Given the description of an element on the screen output the (x, y) to click on. 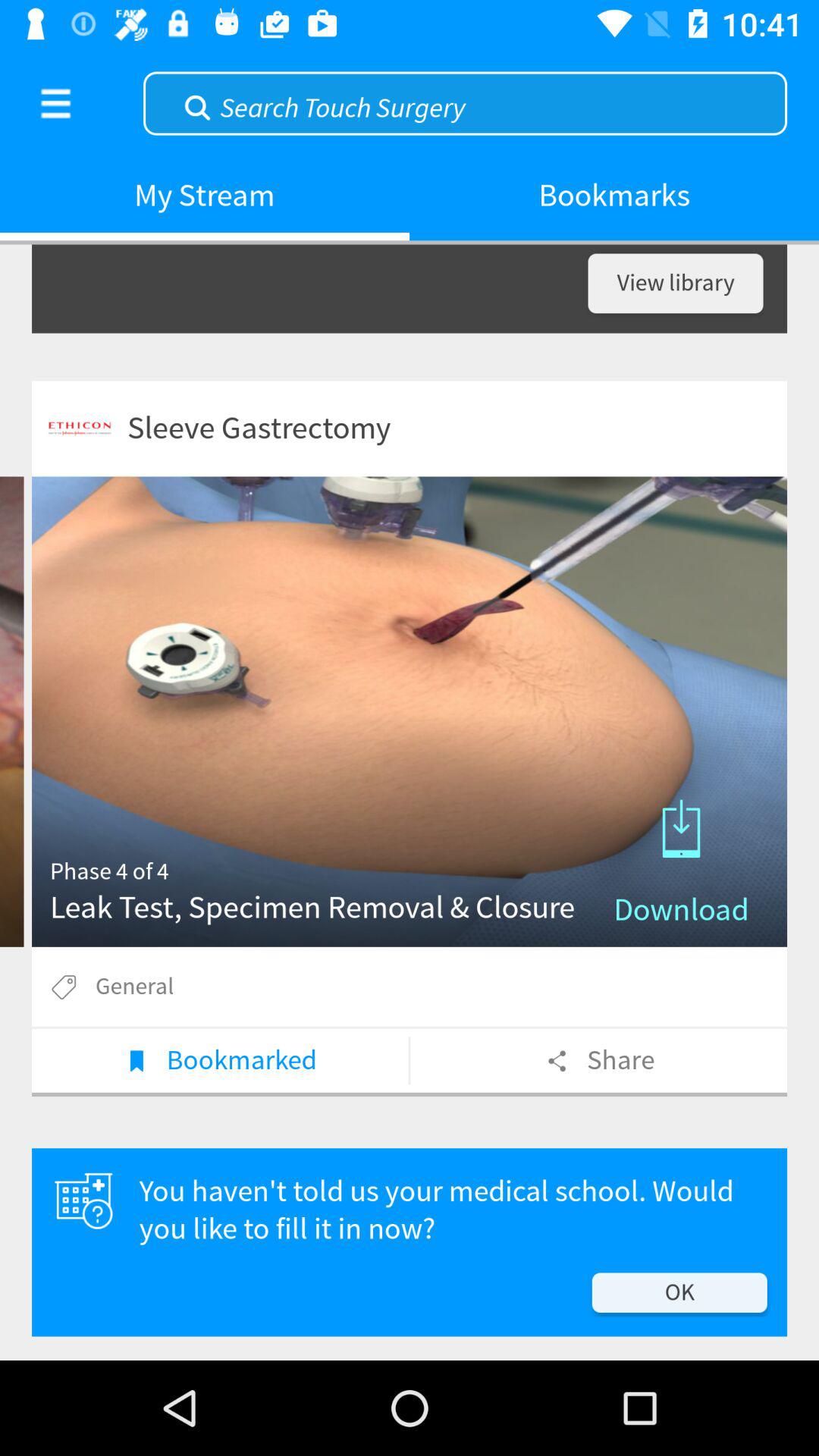
tap the item next to my stream (55, 103)
